Given the description of an element on the screen output the (x, y) to click on. 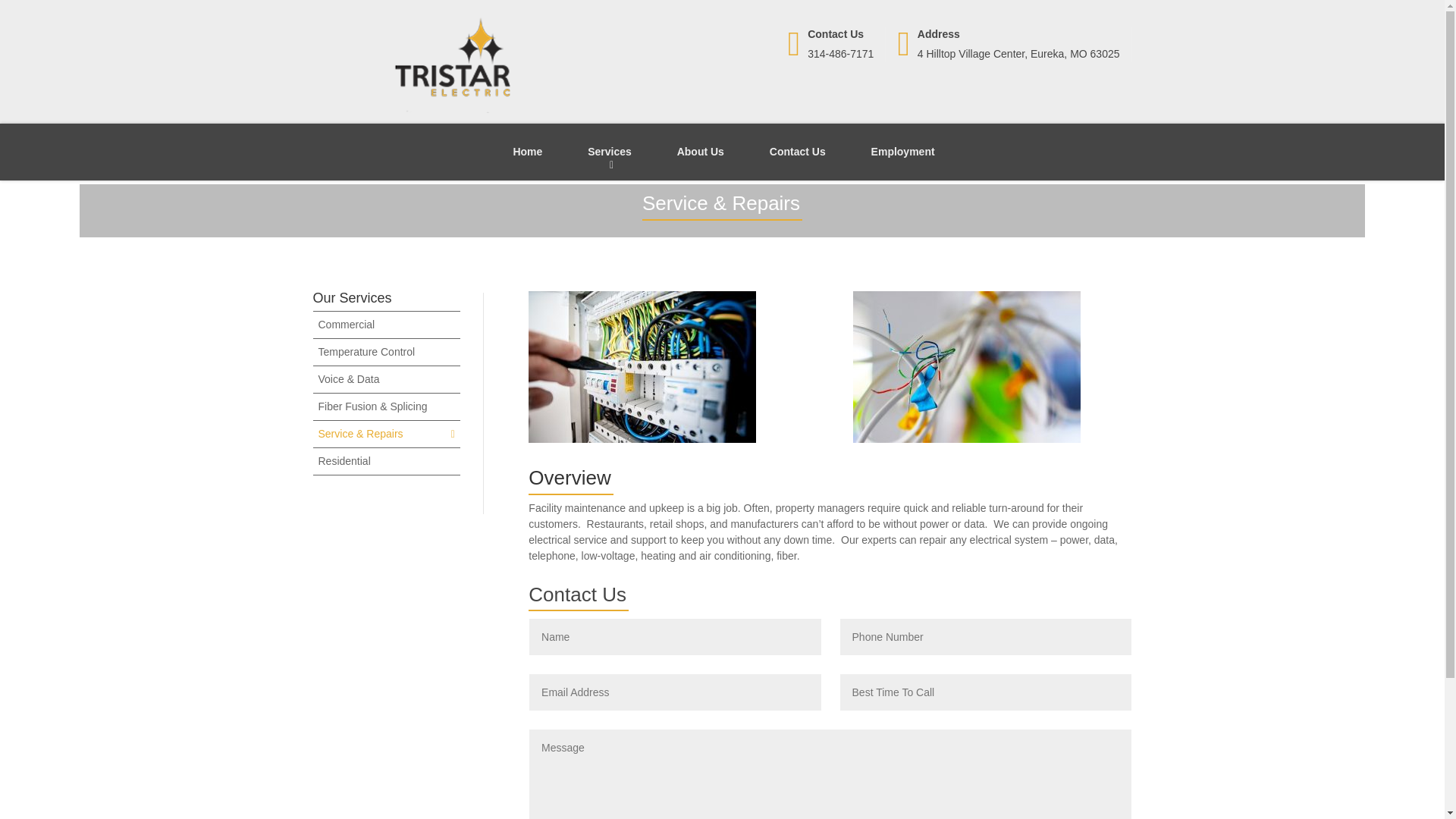
Residential (344, 460)
Commercial (346, 324)
Services (608, 151)
Temperature Control (366, 351)
Contact Us (797, 151)
Employment (903, 151)
Home (526, 151)
About Us (1013, 44)
